Given the description of an element on the screen output the (x, y) to click on. 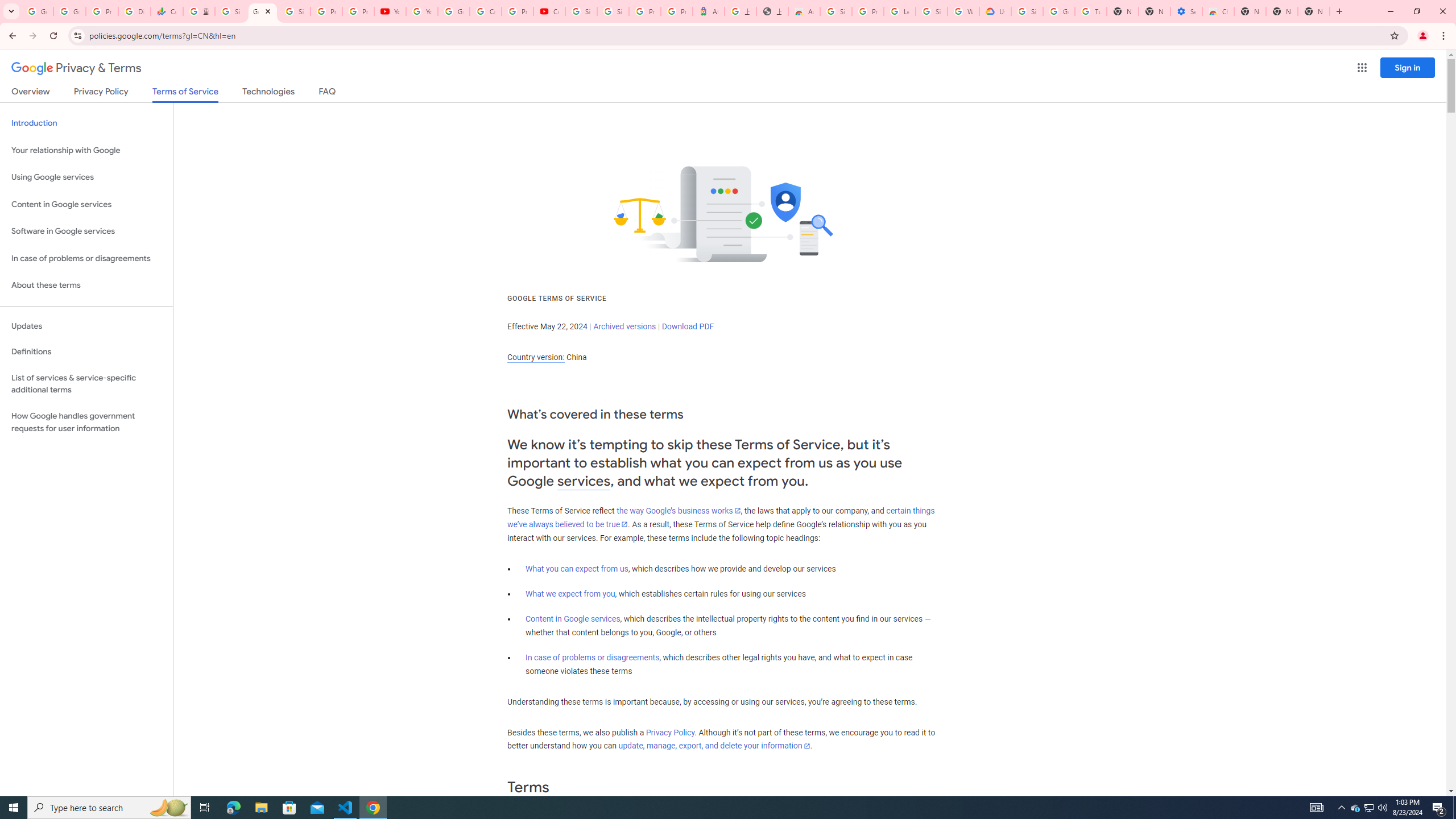
Atour Hotel - Google hotels (708, 11)
Download PDF (687, 326)
Sign in - Google Accounts (230, 11)
What we expect from you (570, 593)
Software in Google services (86, 230)
Content Creator Programs & Opportunities - YouTube Creators (549, 11)
Using Google services (86, 176)
Sign in - Google Accounts (581, 11)
Archived versions (624, 326)
services (583, 480)
How Google handles government requests for user information (86, 422)
